Given the description of an element on the screen output the (x, y) to click on. 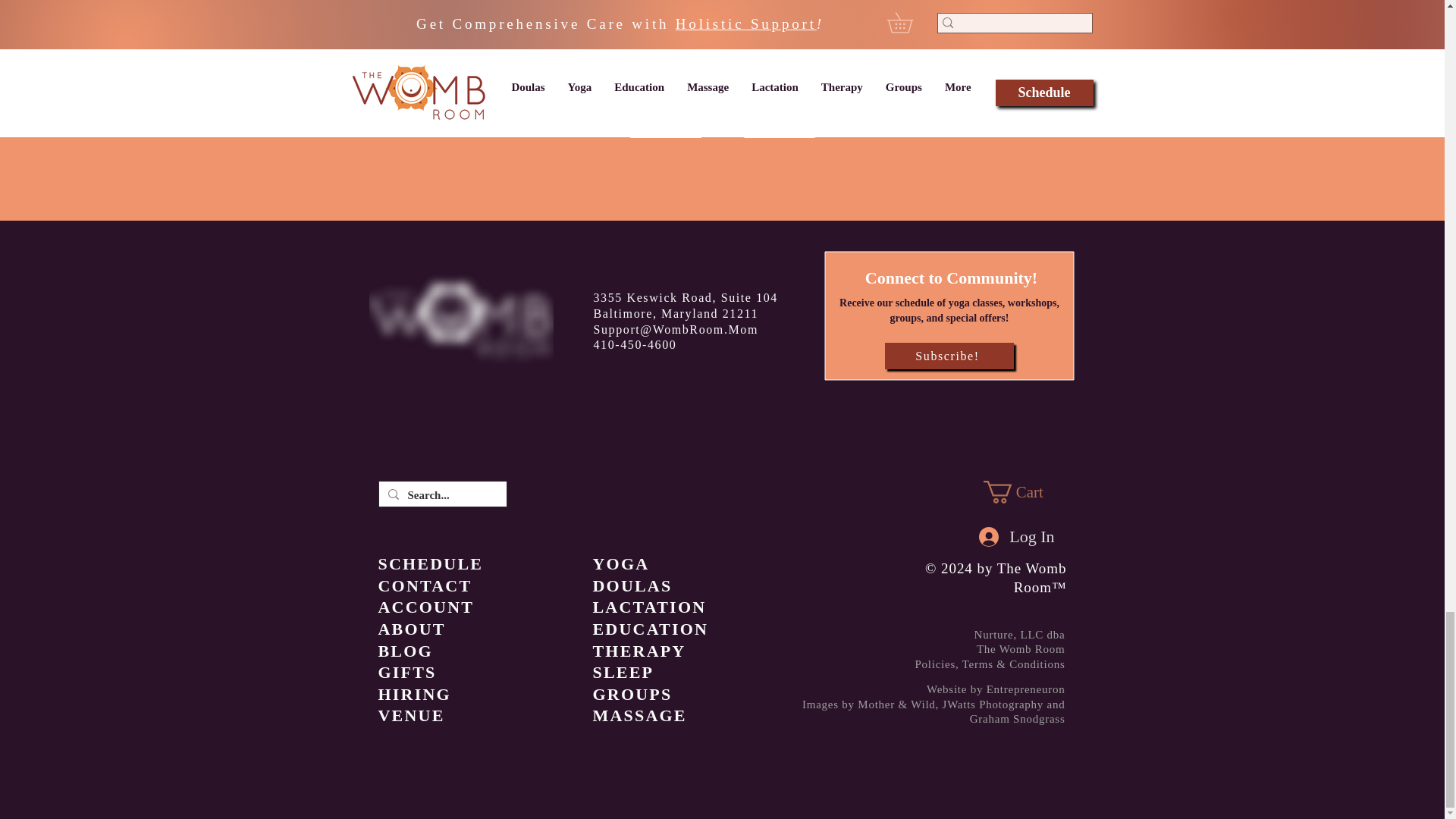
Contact (665, 124)
Cart (1023, 491)
Book (778, 124)
